Given the description of an element on the screen output the (x, y) to click on. 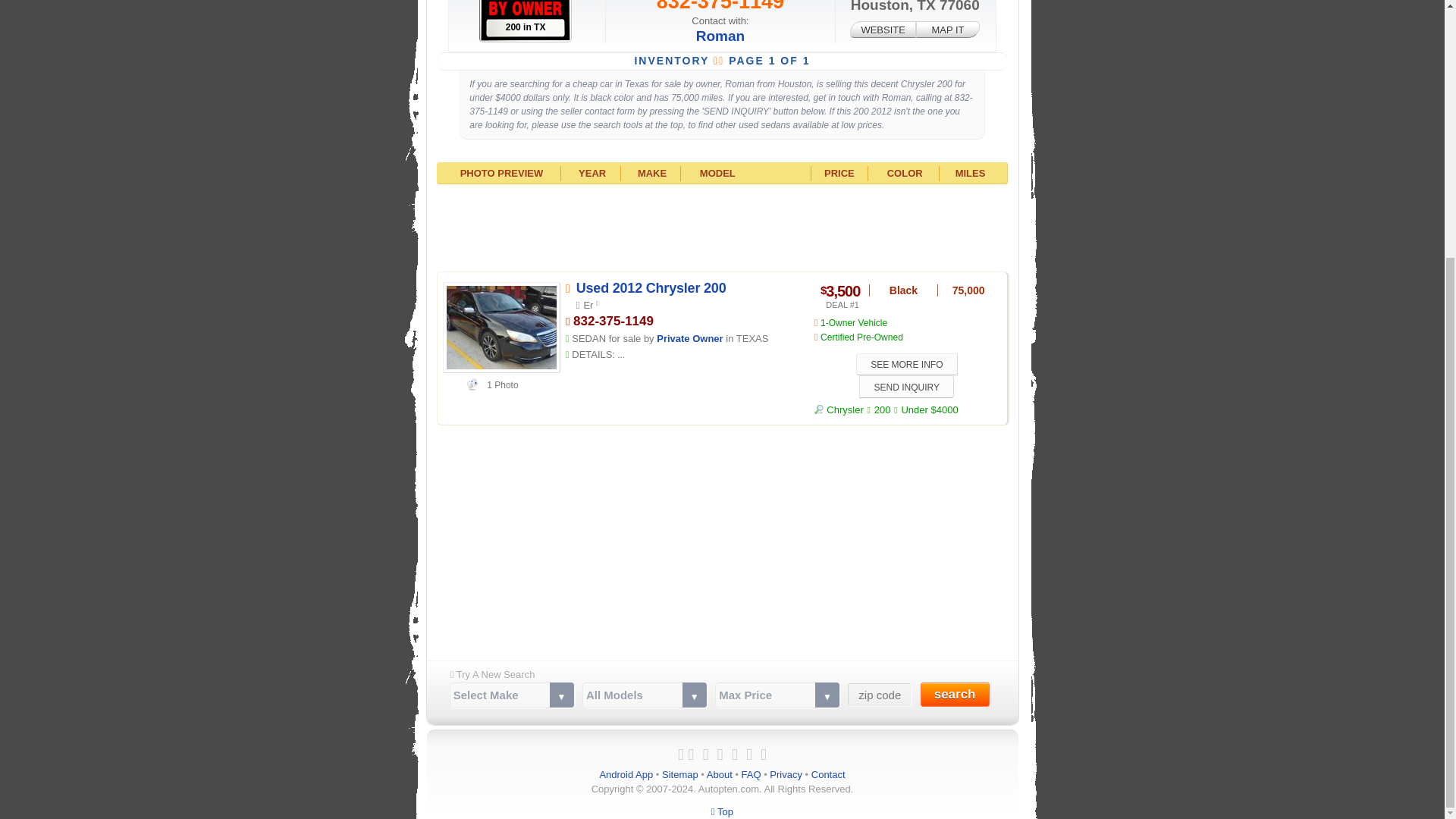
Browse all used Chrysler 200 available (883, 409)
This link is disabled (882, 29)
SEE MORE INFO (907, 363)
WEBSITE (882, 29)
Browse all Chrysler cars listed (838, 409)
Chrysler (838, 409)
Used 2012 Chrysler 200 (651, 287)
search (955, 694)
SEND INQUIRY (906, 386)
MAP IT (947, 29)
Seller info (689, 337)
200 (883, 409)
Private Owner (689, 337)
